Given the description of an element on the screen output the (x, y) to click on. 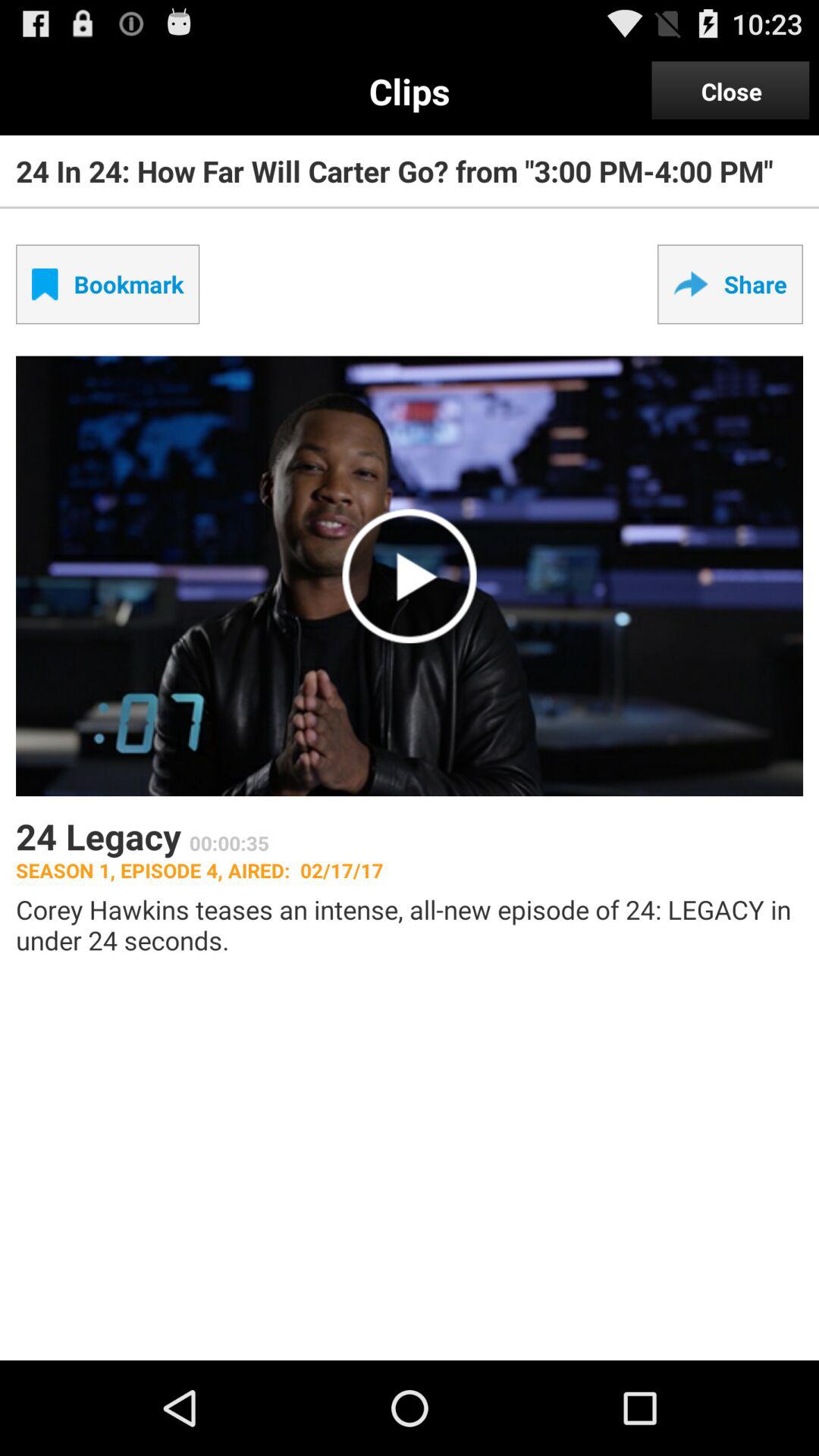
select the checkbox next to share item (107, 284)
